Given the description of an element on the screen output the (x, y) to click on. 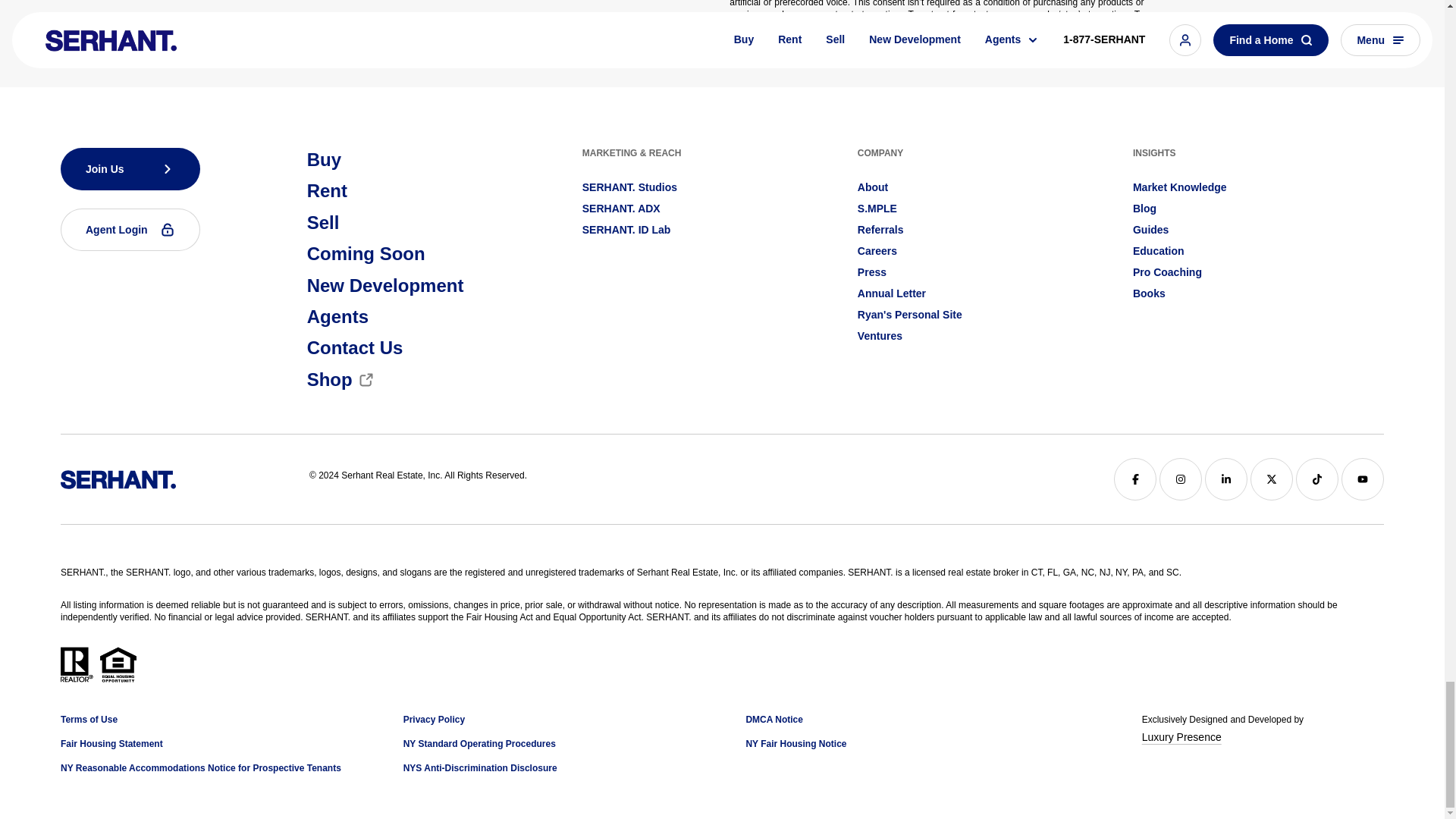
Sell It Pro Coaching (1167, 272)
SERHANT. S.MPLE (876, 208)
